Given the description of an element on the screen output the (x, y) to click on. 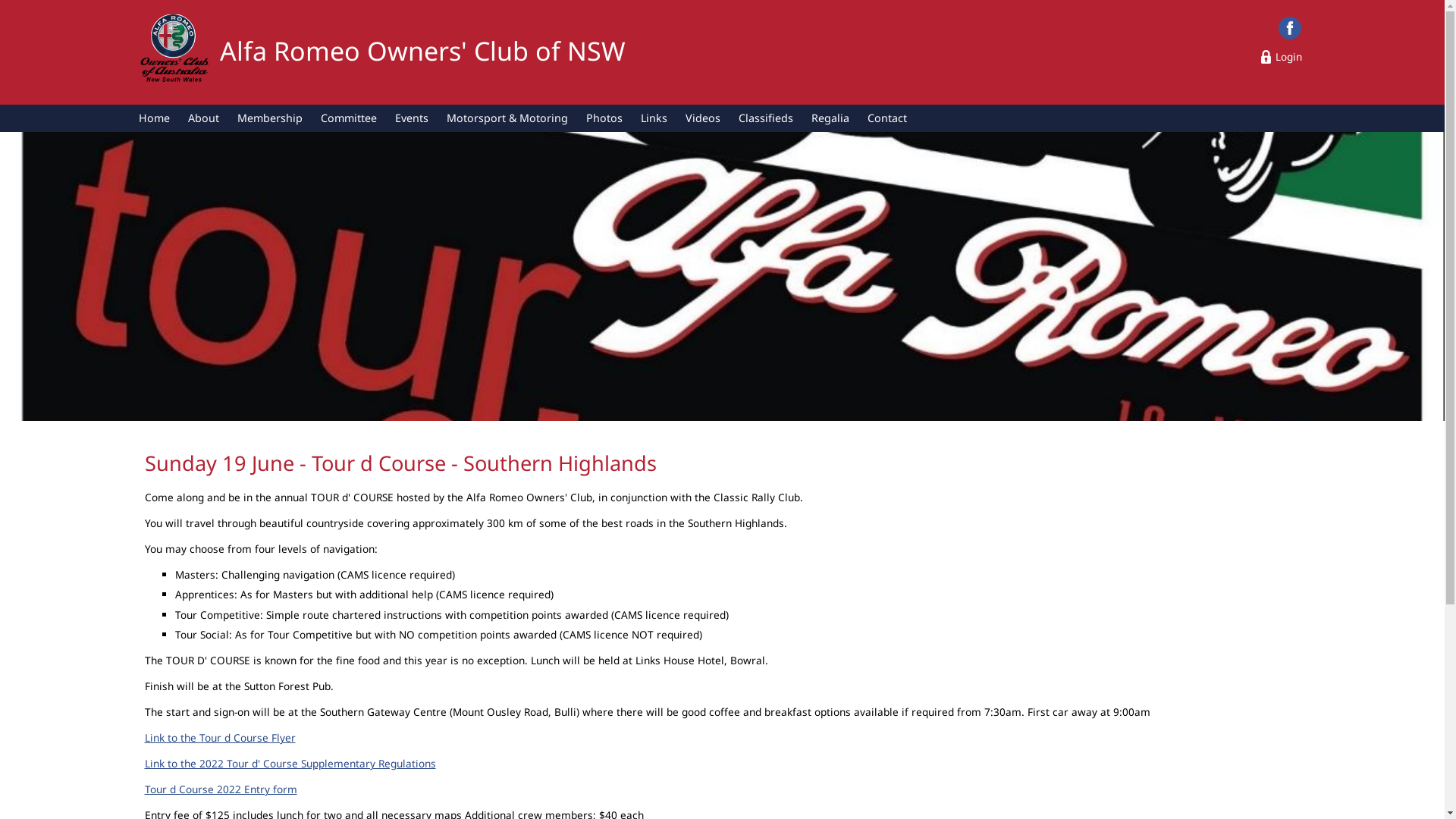
Committee Element type: text (348, 117)
Regalia Element type: text (830, 117)
Classifieds Element type: text (765, 117)
Photos Element type: text (604, 117)
About Element type: text (203, 117)
Events Element type: text (411, 117)
Home page Element type: hover (173, 50)
Motorsport & Motoring Element type: text (507, 117)
Login Element type: text (1281, 56)
Link to the Tour d Course Flyer Element type: text (219, 737)
Tour d Course 2022 Entry form Element type: text (220, 788)
Videos Element type: text (702, 117)
Find us on Facebook at https://www.facebook.com/arocansw/ Element type: hover (1289, 27)
Alfa Romeo Owners' Club of NSW logo Element type: hover (173, 51)
Membership Element type: text (269, 117)
Contact Element type: text (887, 117)
Links Element type: text (653, 117)
Link to the 2022 Tour d' Course Supplementary Regulations Element type: text (289, 763)
Home Element type: text (153, 117)
